Given the description of an element on the screen output the (x, y) to click on. 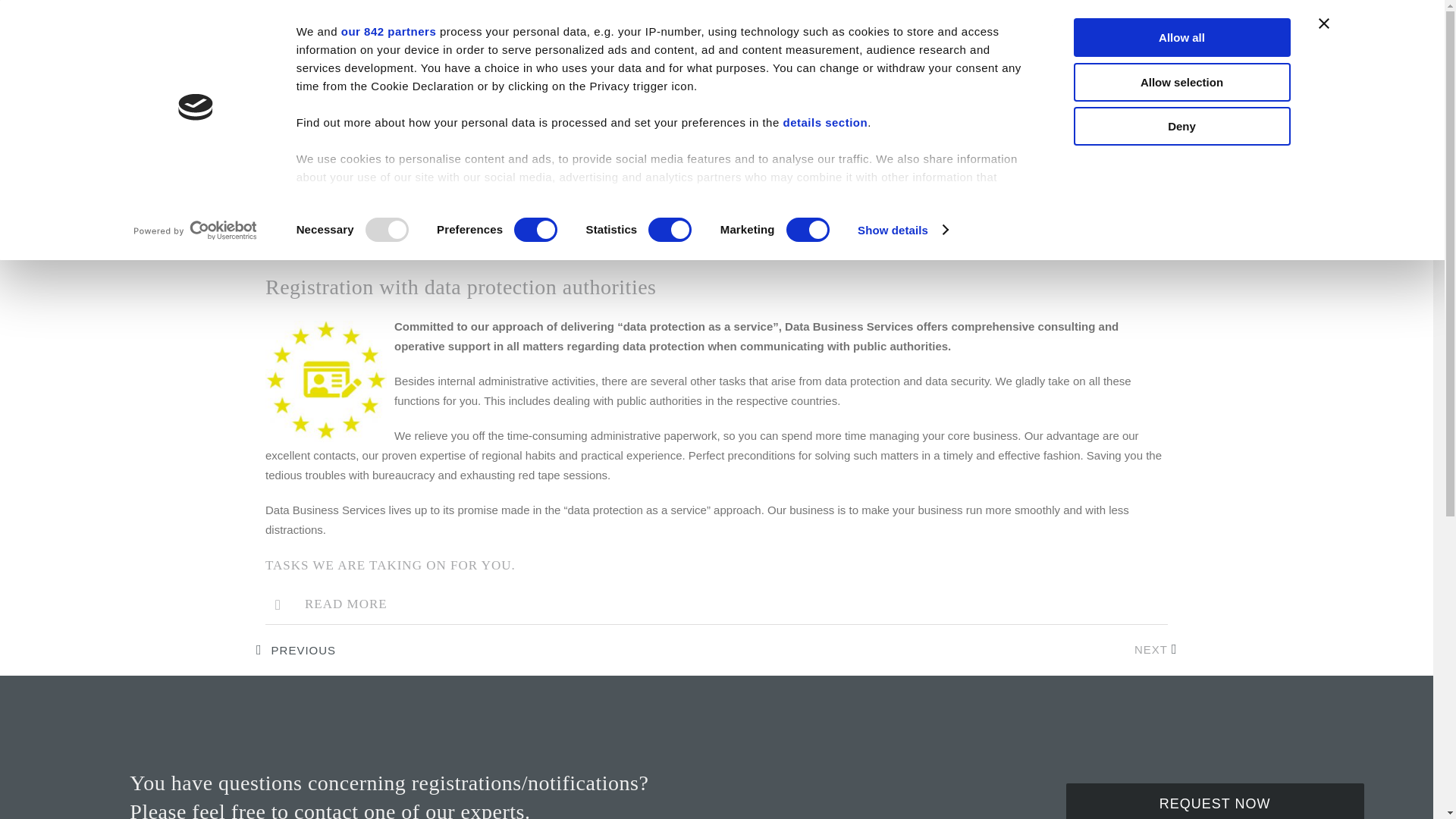
details section (825, 122)
Show details (902, 229)
our 842 partners (388, 31)
